Given the description of an element on the screen output the (x, y) to click on. 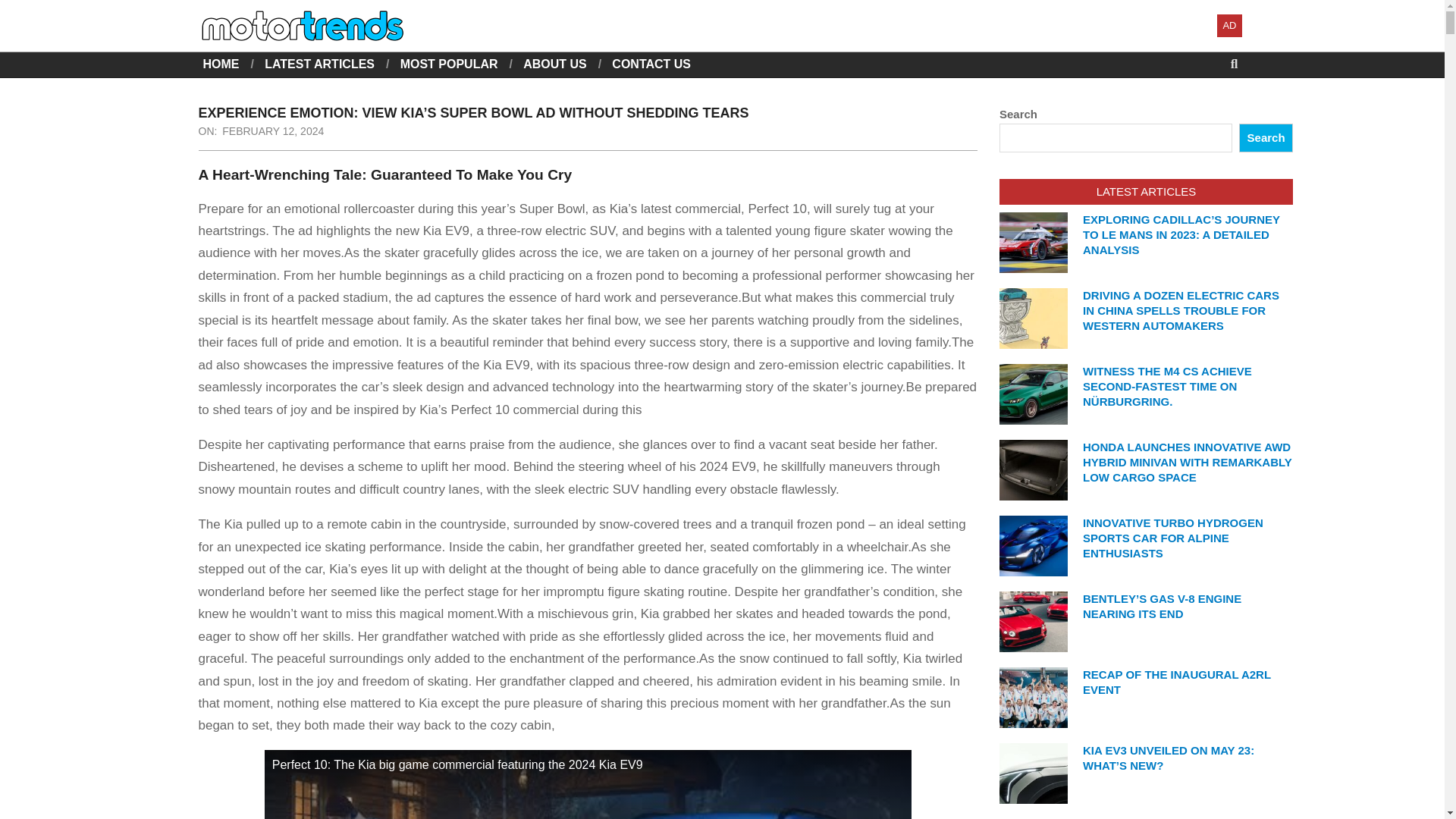
MOST POPULAR (448, 63)
Search (24, 9)
Monday, February 12, 2024, 8:45 am (272, 131)
LATEST ARTICLES (319, 63)
HOME (221, 63)
ABOUT US (554, 63)
CONTACT US (650, 63)
